Given the description of an element on the screen output the (x, y) to click on. 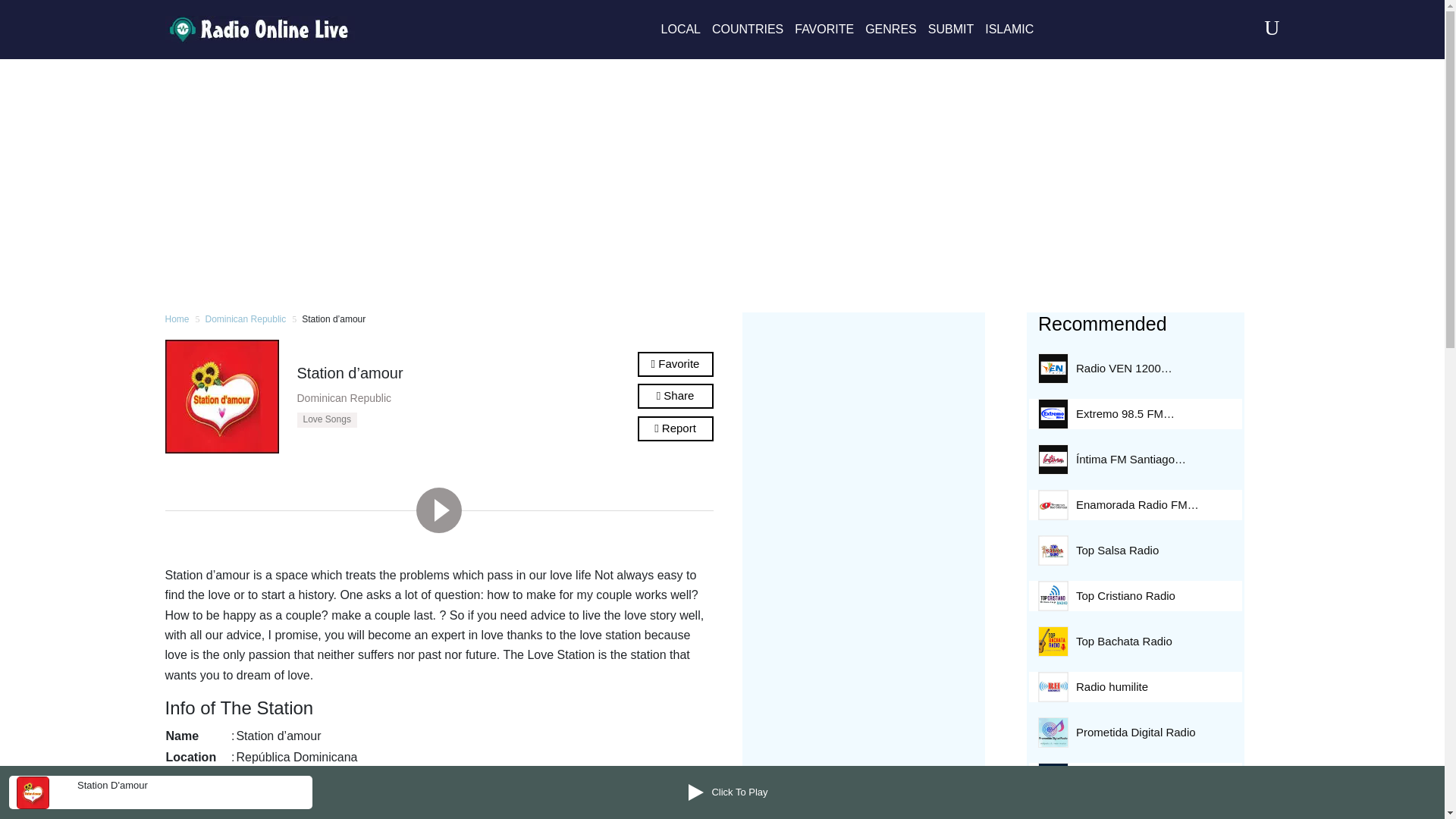
www.stationdamour.ga (296, 816)
LOCAL (680, 29)
Dominican Republic (245, 319)
Facebook (304, 800)
Dominican Republic (344, 398)
COUNTRIES (747, 29)
Home (177, 319)
FAVORITE (823, 29)
GENRES (890, 29)
